Given the description of an element on the screen output the (x, y) to click on. 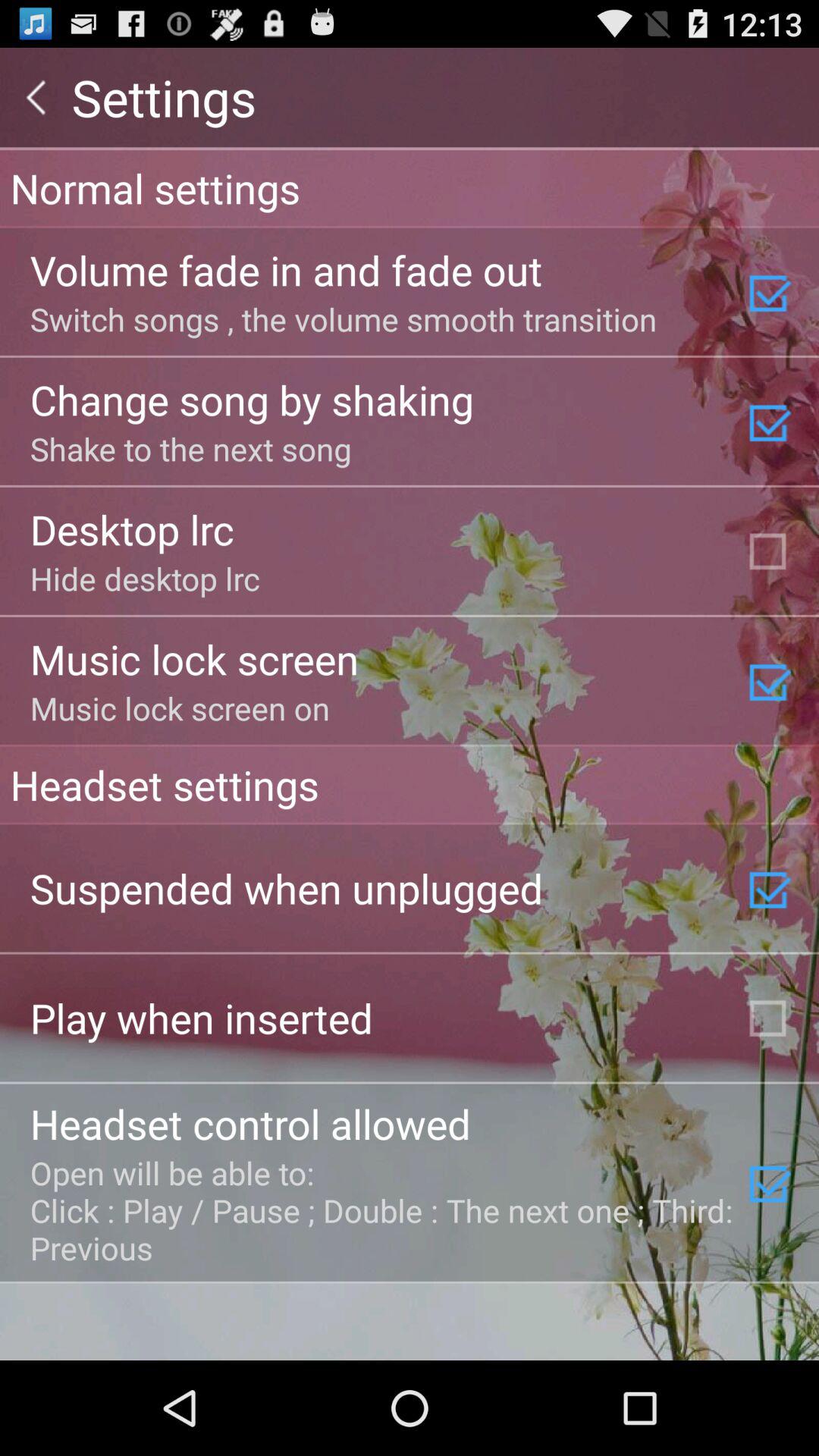
press volume fade in item (286, 269)
